Given the description of an element on the screen output the (x, y) to click on. 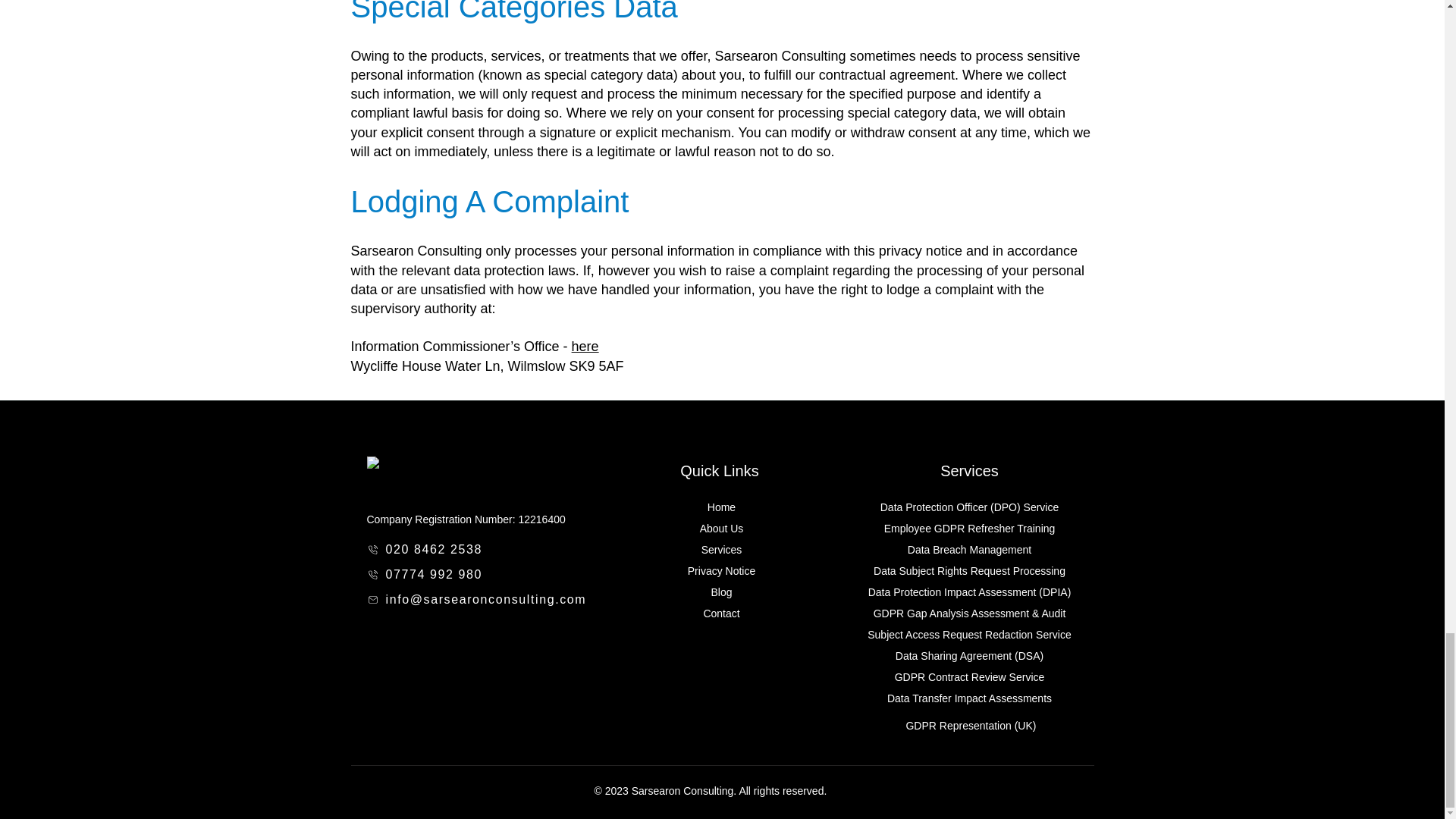
Data Breach Management (968, 549)
GDPR Contract Review Service (970, 676)
Blog (721, 592)
Employee GDPR Refresher Training (969, 528)
logo-updated.png (427, 476)
Contact (721, 613)
07774 992 980 (430, 574)
Services (721, 549)
Privacy Notice (721, 571)
Home (721, 507)
Subject Access Request Redaction Service (968, 634)
020 8462 2538 (430, 549)
Data Subject Rights Request Processing (969, 571)
About Us (722, 528)
here (585, 346)
